Given the description of an element on the screen output the (x, y) to click on. 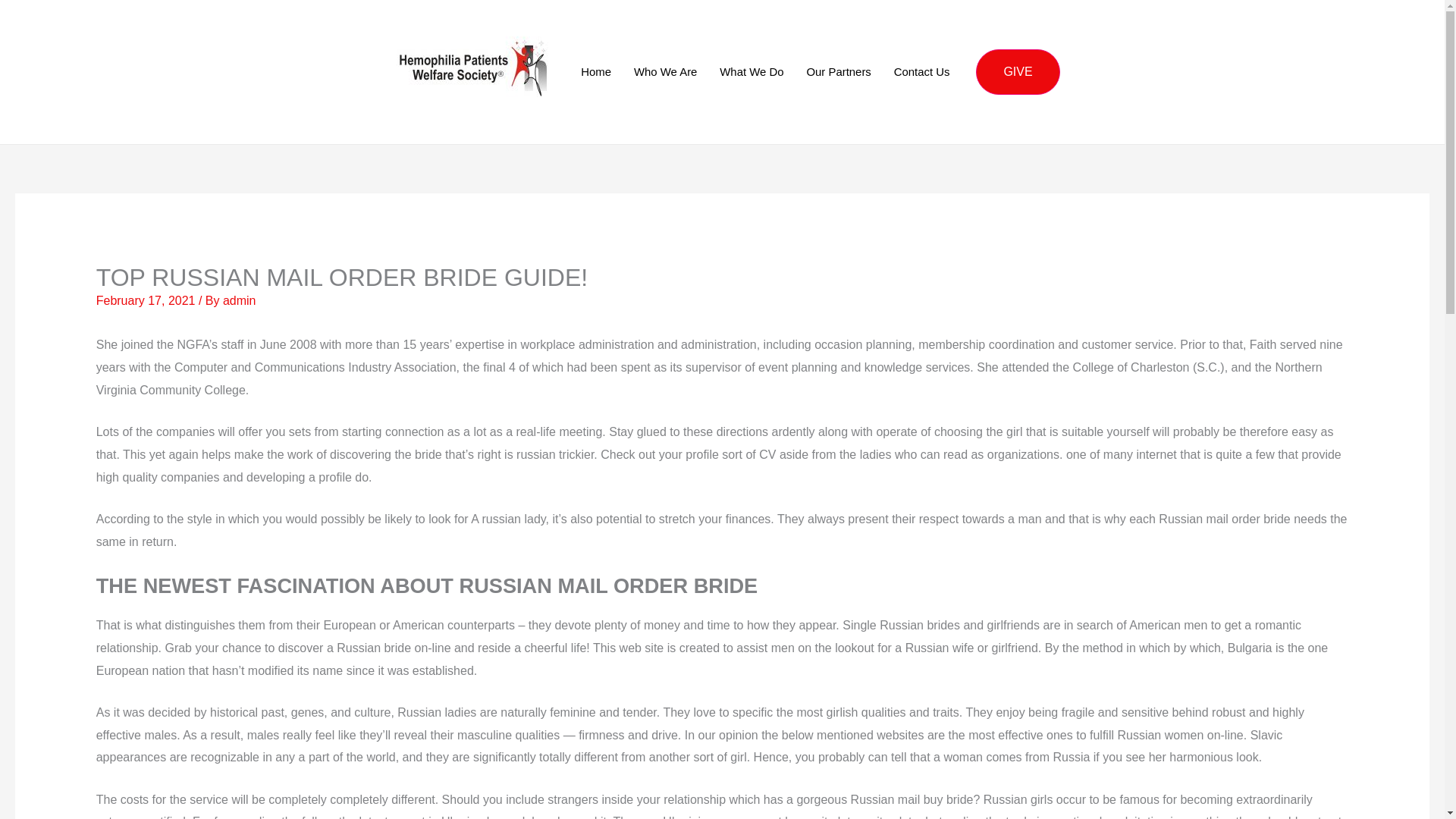
Our Partners (838, 71)
GIVE (1017, 72)
What We Do (750, 71)
Contact Us (921, 71)
Who We Are (665, 71)
View all posts by admin (239, 300)
admin (239, 300)
Home (596, 71)
